Given the description of an element on the screen output the (x, y) to click on. 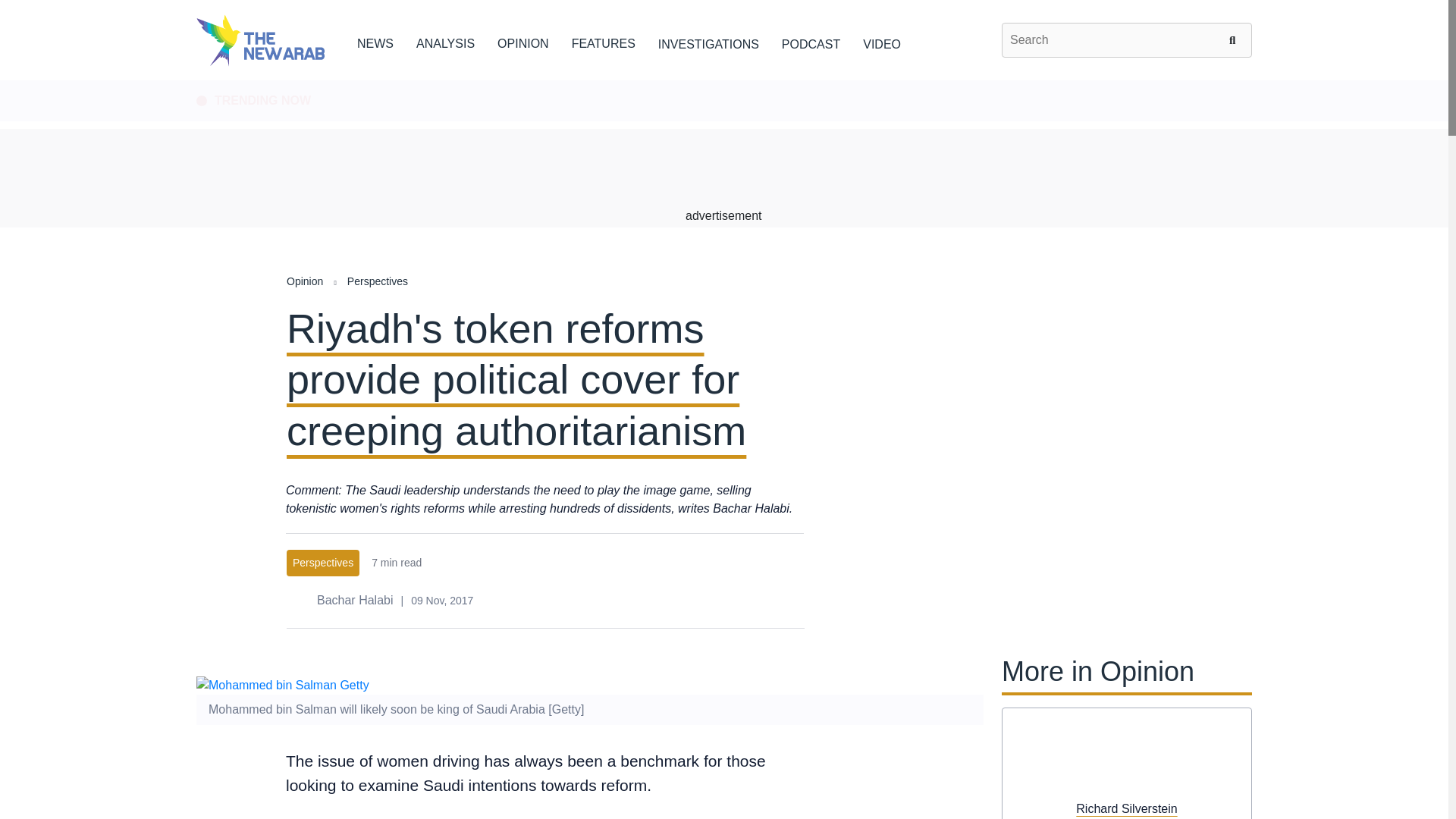
OPINION (523, 41)
ANALYSIS (445, 41)
Search (1234, 39)
NEWS (375, 41)
Skip to main content (724, 81)
